Given the description of an element on the screen output the (x, y) to click on. 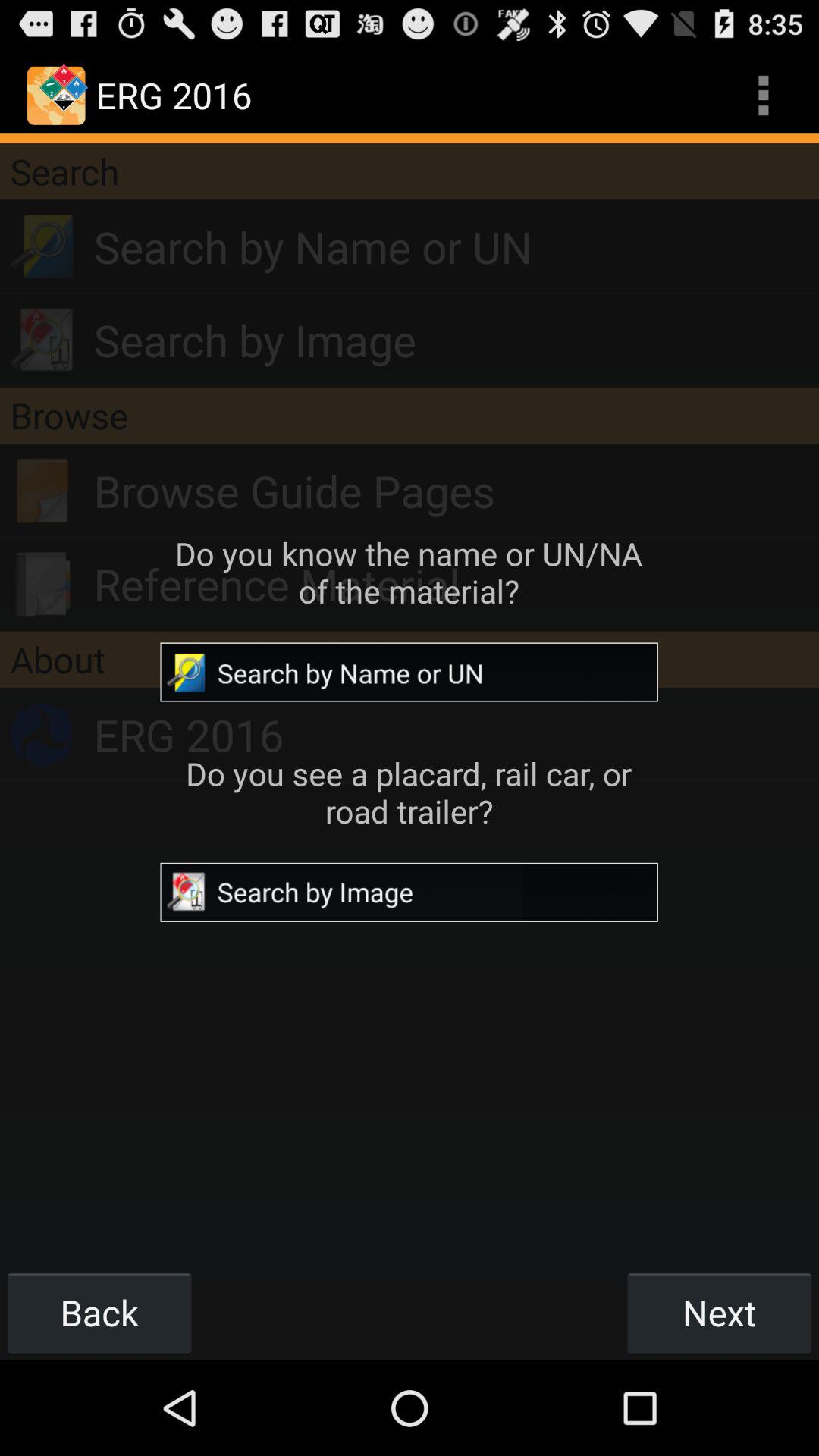
flip until back (99, 1312)
